Given the description of an element on the screen output the (x, y) to click on. 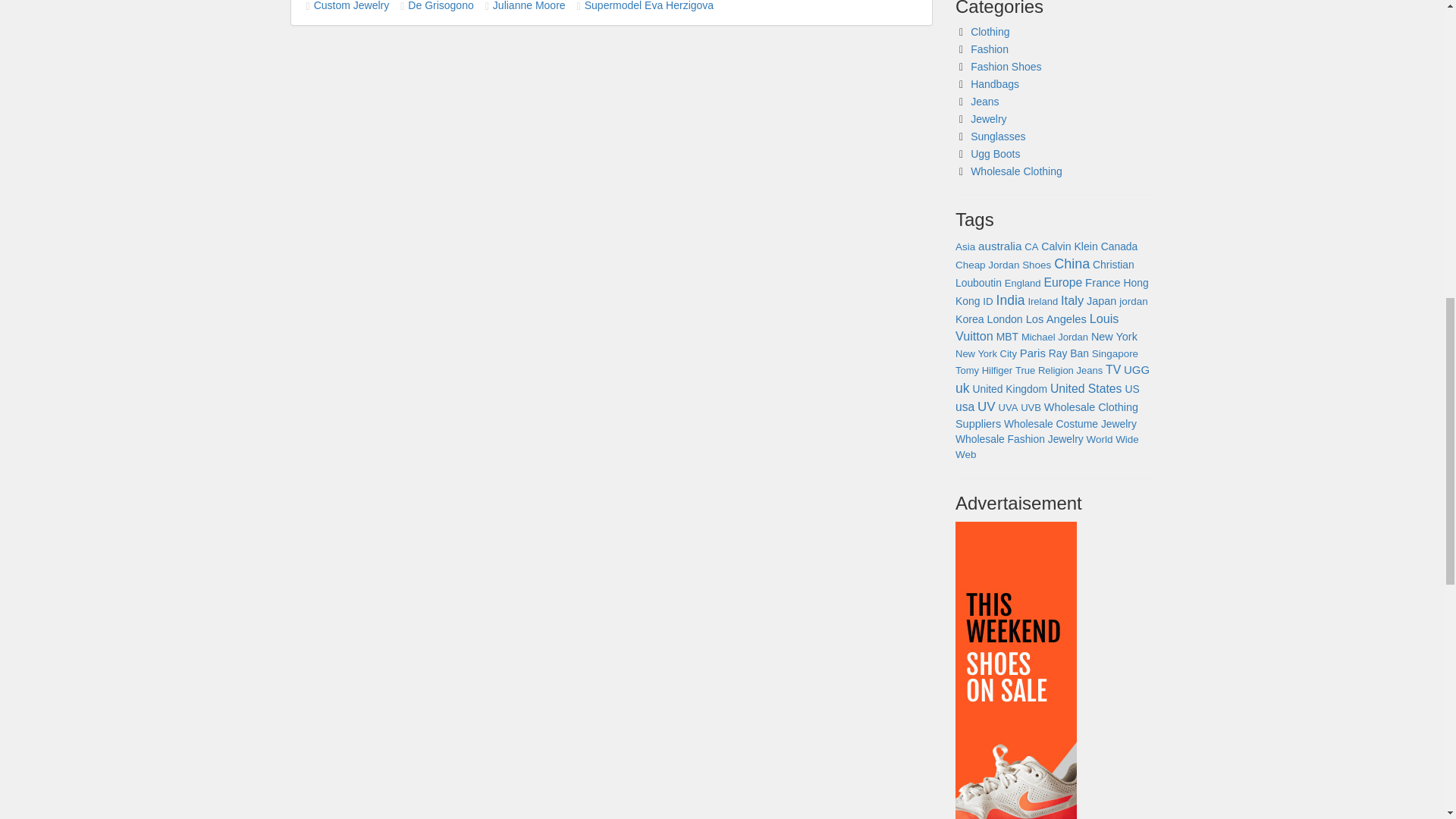
Jewelry (988, 119)
De Grisogono (440, 5)
Handbags (995, 83)
Custom Jewelry (352, 5)
Wholesale Clothing (1016, 171)
CA (1031, 246)
Fashion (990, 49)
australia (1000, 245)
Clothing (990, 31)
Ugg Boots (995, 153)
Asia (965, 246)
Supermodel Eva Herzigova (649, 5)
Julianne Moore (529, 5)
Sunglasses (998, 136)
Fashion Shoes (1006, 66)
